Given the description of an element on the screen output the (x, y) to click on. 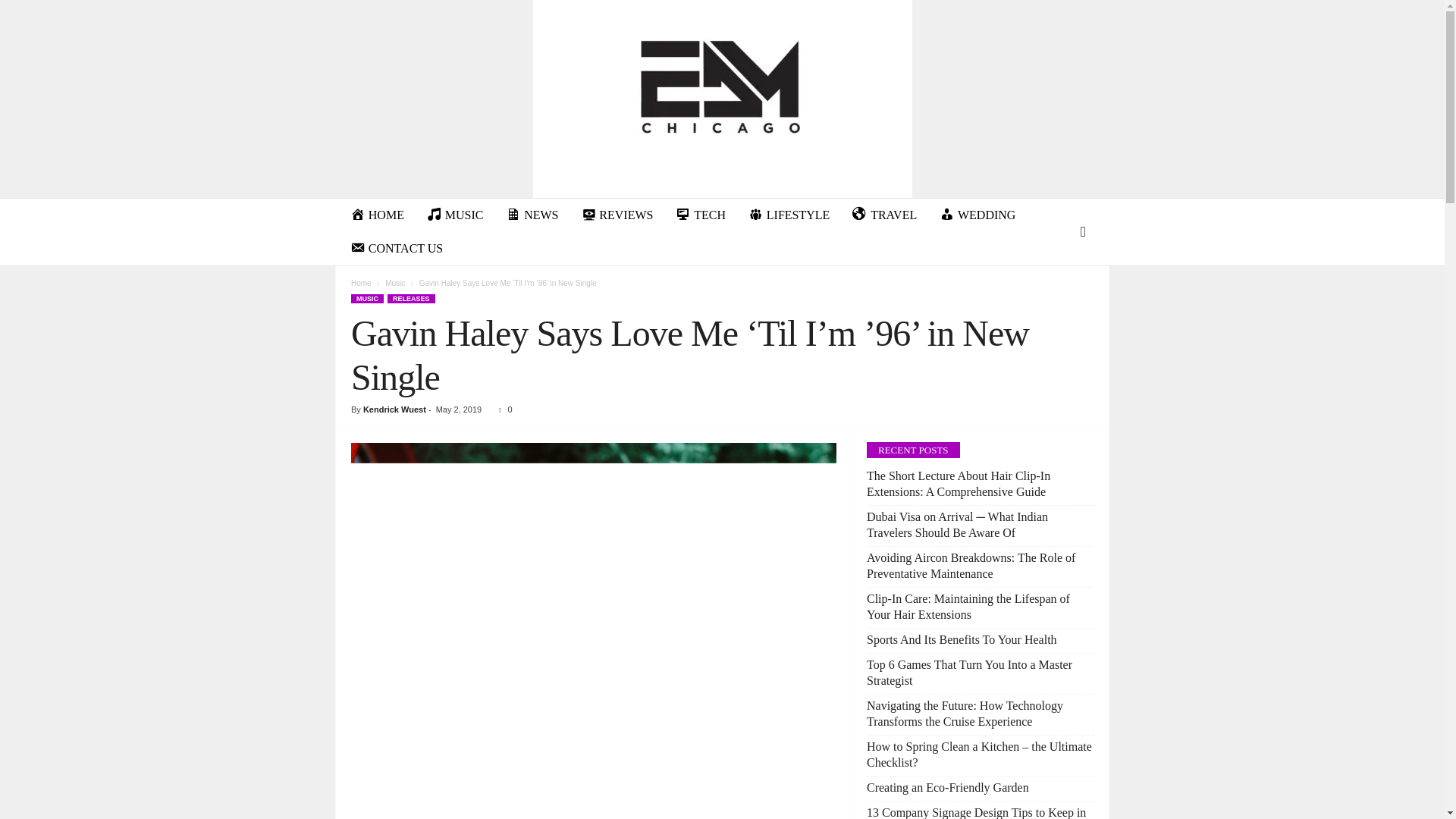
MUSIC (454, 215)
RELEASES (411, 298)
REVIEWS (617, 215)
Home (360, 283)
Kendrick Wuest (394, 409)
WEDDING (977, 215)
MUSIC (367, 298)
LIFESTYLE (788, 215)
TECH (699, 215)
TRAVEL (884, 215)
HOME (376, 215)
CONTACT US (396, 248)
Music (394, 283)
View all posts in Music (394, 283)
